Given the description of an element on the screen output the (x, y) to click on. 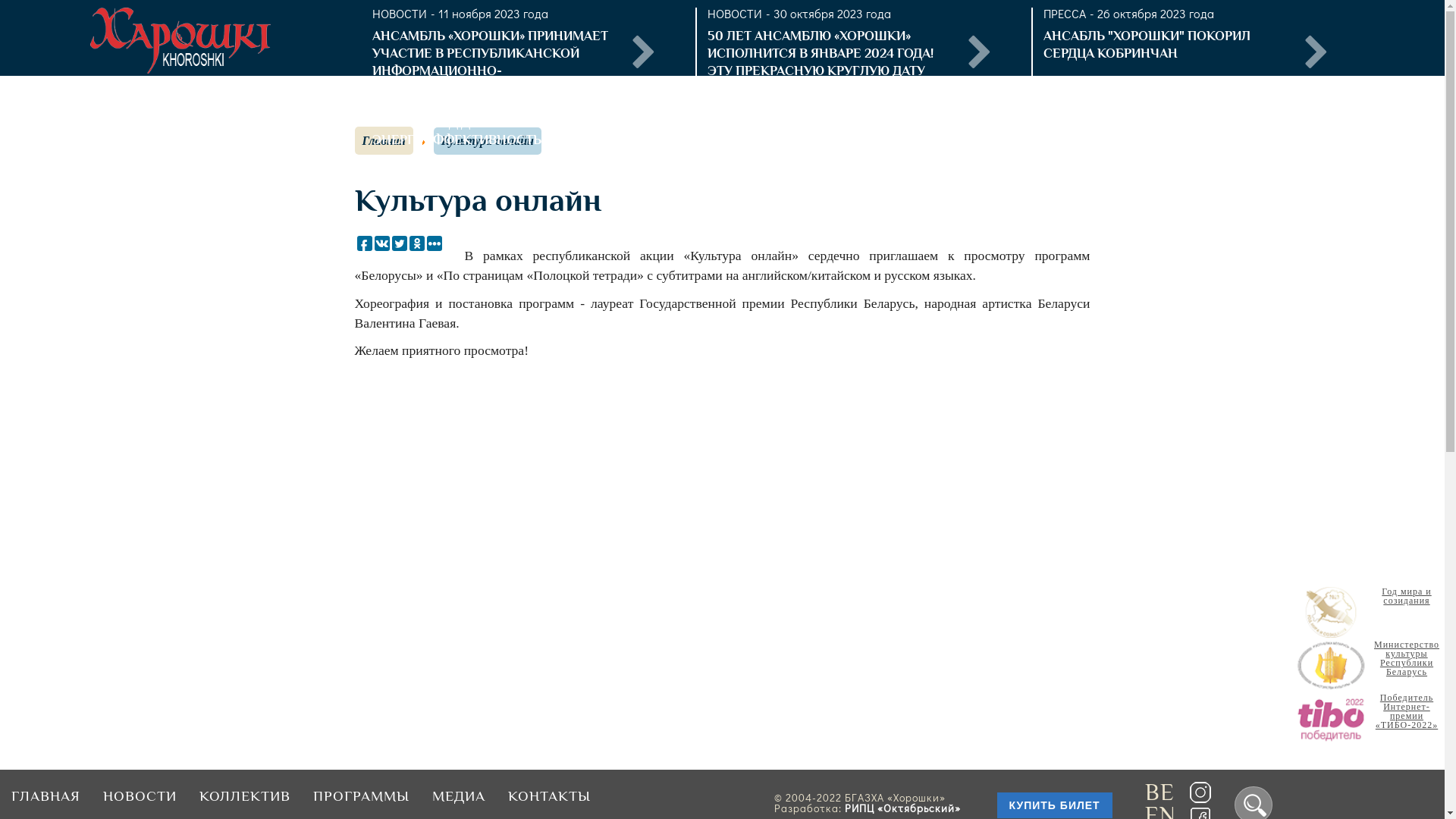
BE Element type: text (1159, 792)
Instagramm Element type: hover (1200, 799)
YouTube video player Element type: hover (566, 487)
